Given the description of an element on the screen output the (x, y) to click on. 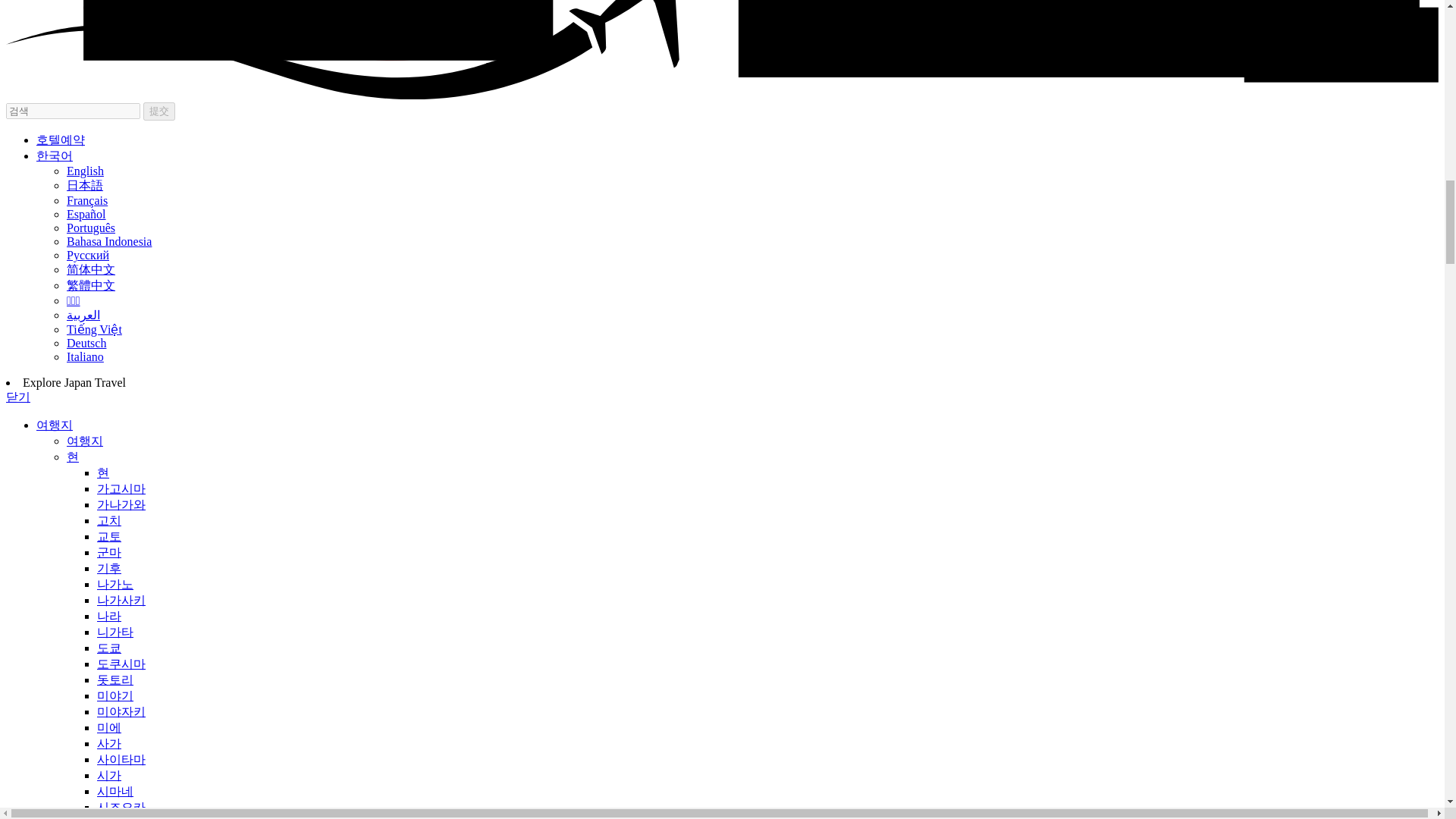
English (84, 170)
Deutsch (86, 342)
Italiano (84, 356)
Bahasa Indonesia (108, 241)
